Given the description of an element on the screen output the (x, y) to click on. 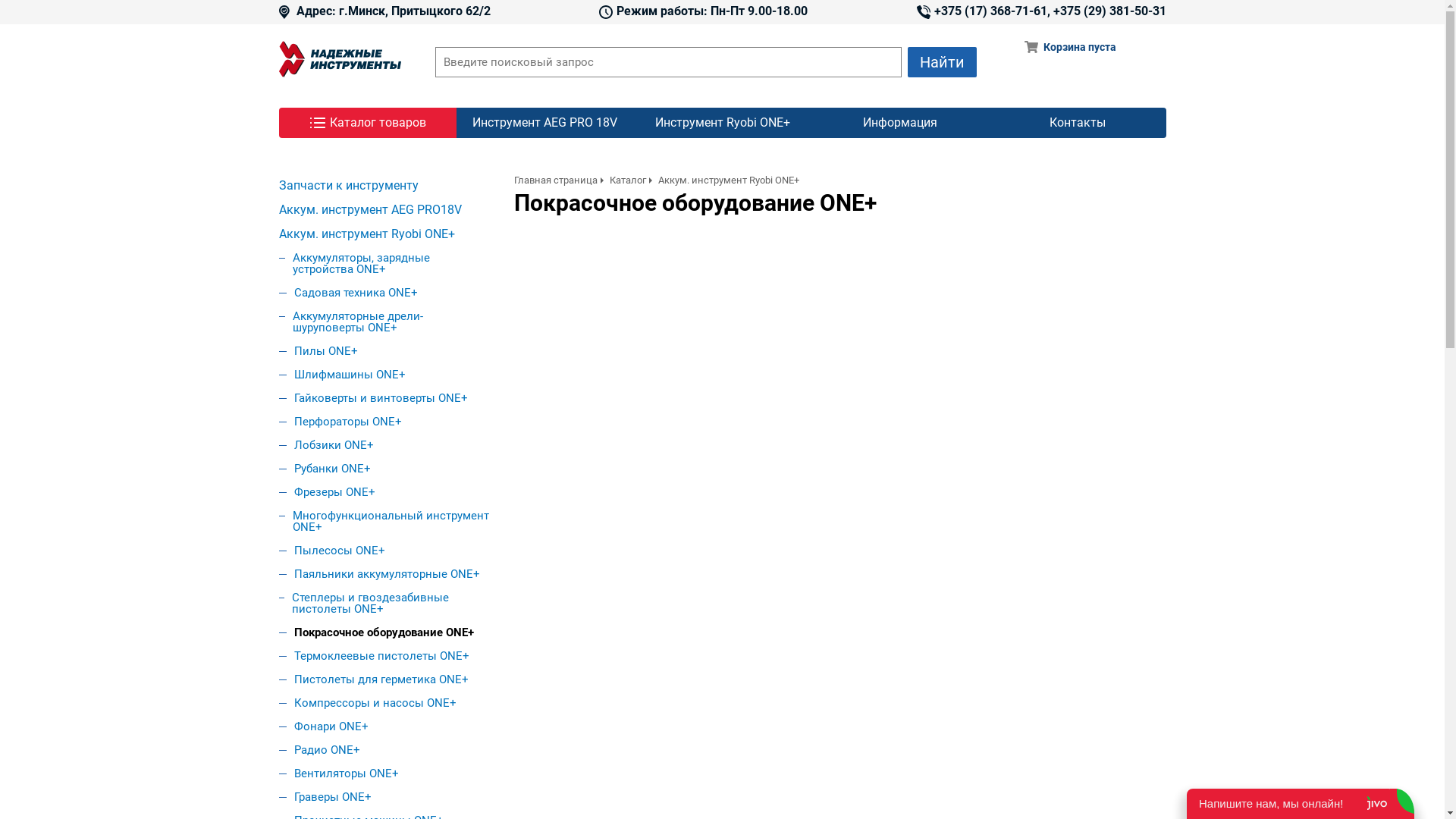
+375 (17) 368-71-61, +375 (29) 381-50-31 Element type: text (1040, 11)
